Given the description of an element on the screen output the (x, y) to click on. 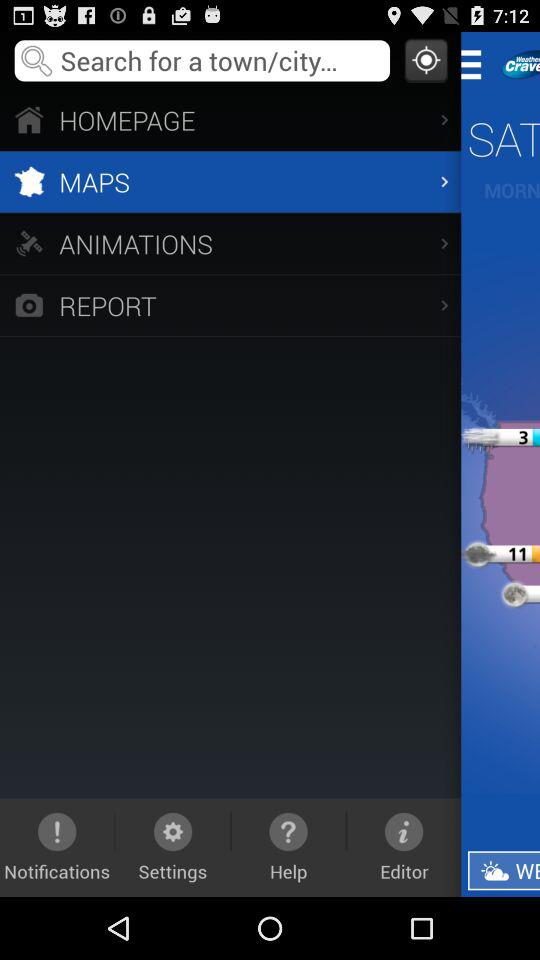
open menu (477, 63)
